Given the description of an element on the screen output the (x, y) to click on. 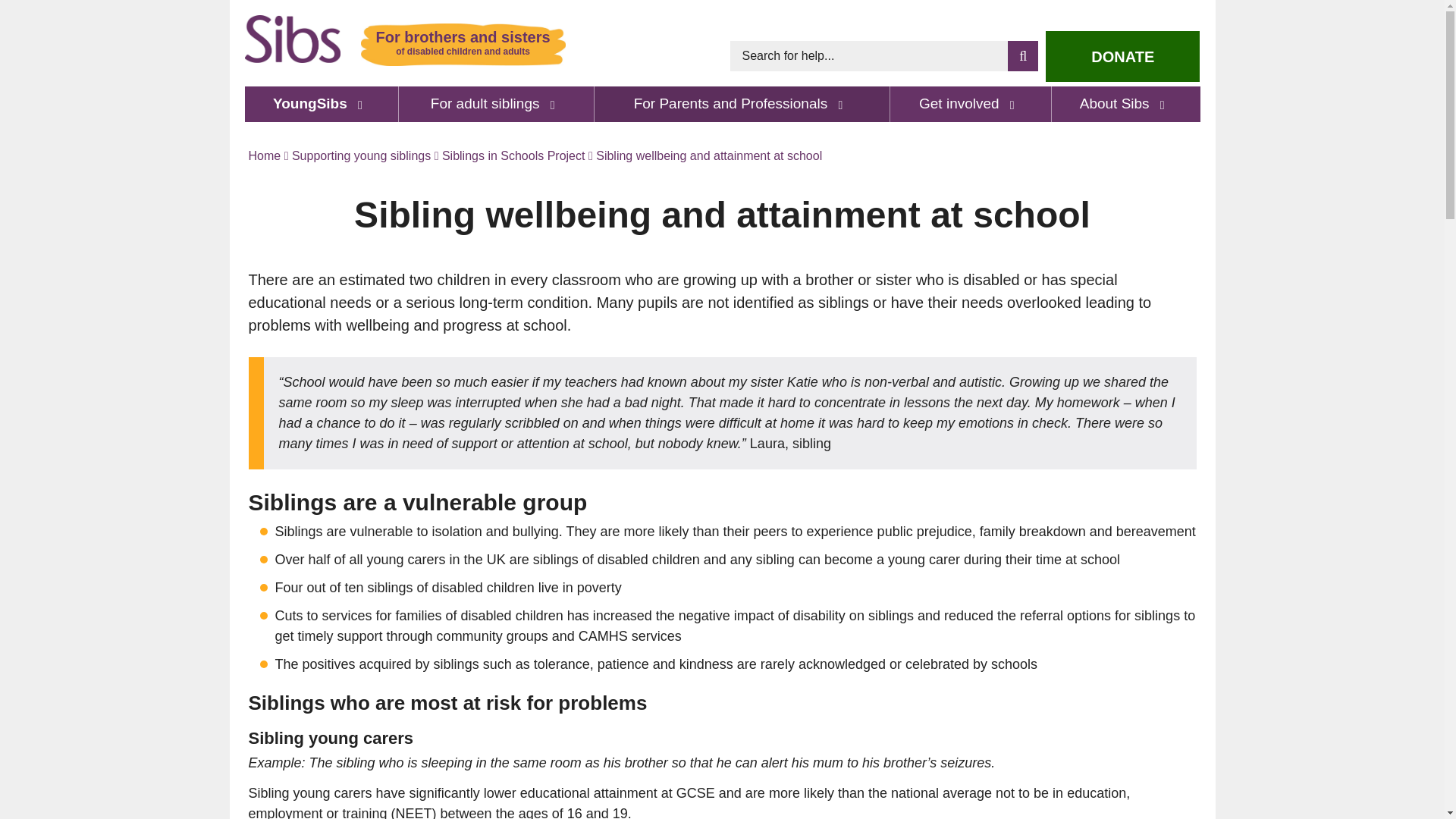
DONATE (1122, 56)
For adult siblings (496, 102)
For Parents and Professionals (742, 102)
YoungSibs (320, 102)
Sibs (292, 39)
